Given the description of an element on the screen output the (x, y) to click on. 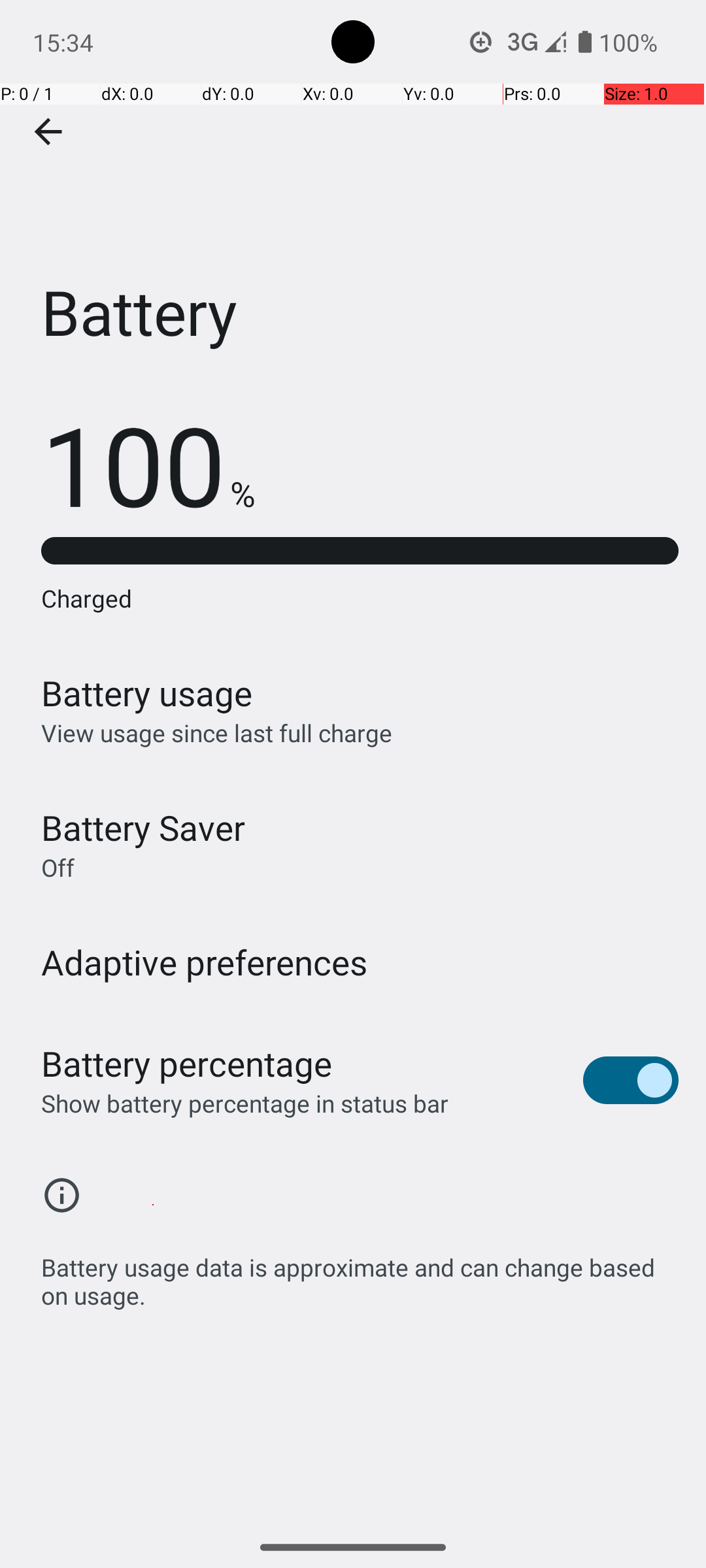
100 % Element type: android.widget.TextView (147, 463)
Charged Element type: android.widget.TextView (359, 597)
Battery usage Element type: android.widget.TextView (146, 692)
View usage since last full charge Element type: android.widget.TextView (216, 732)
Battery Saver Element type: android.widget.TextView (143, 827)
Adaptive preferences Element type: android.widget.TextView (204, 961)
Battery percentage Element type: android.widget.TextView (186, 1063)
Show battery percentage in status bar Element type: android.widget.TextView (244, 1102)
Battery usage data is approximate and can change based on usage. Element type: android.widget.TextView (359, 1274)
